Given the description of an element on the screen output the (x, y) to click on. 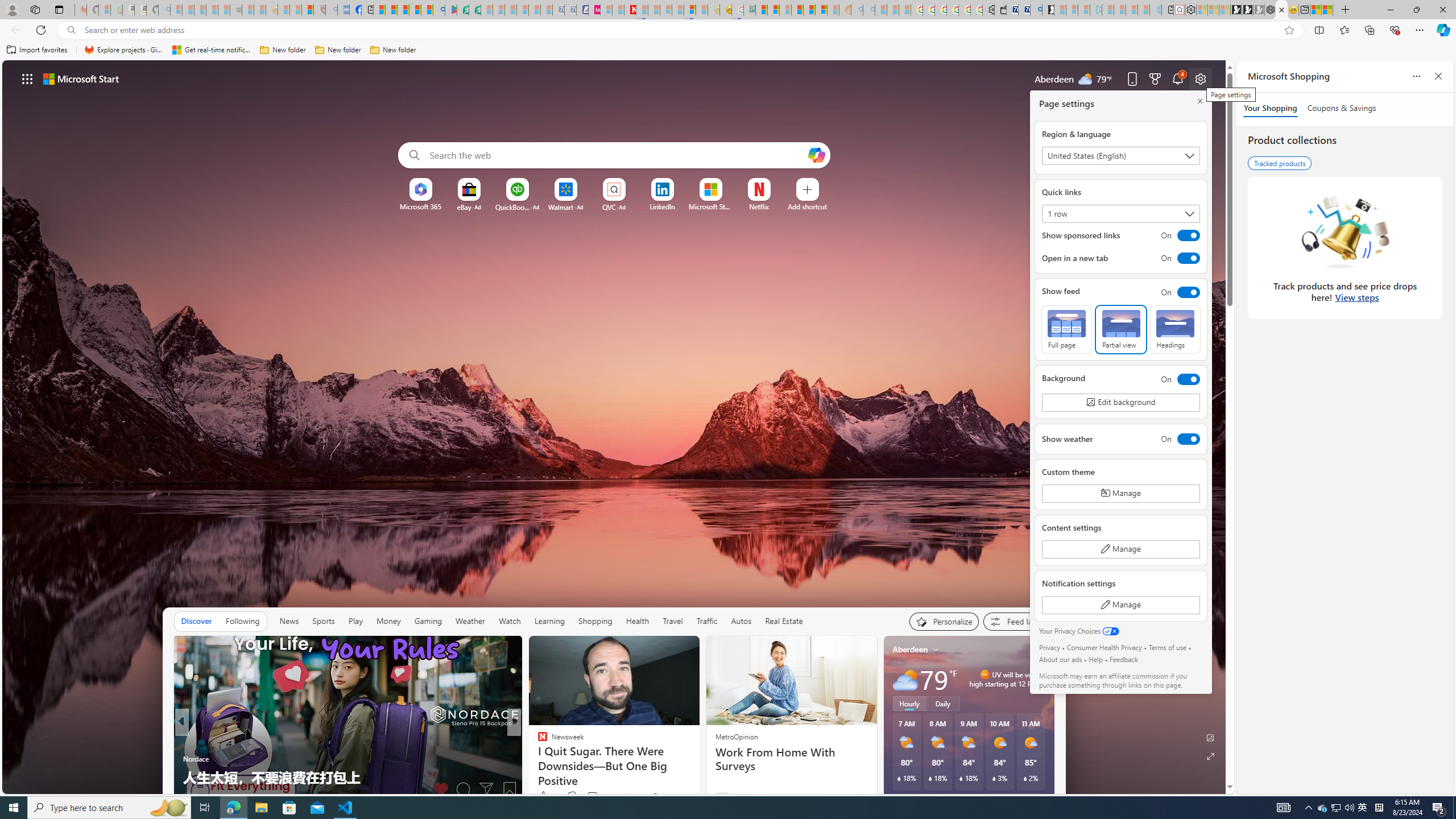
Hourly (909, 703)
Manage (1120, 605)
